Given the description of an element on the screen output the (x, y) to click on. 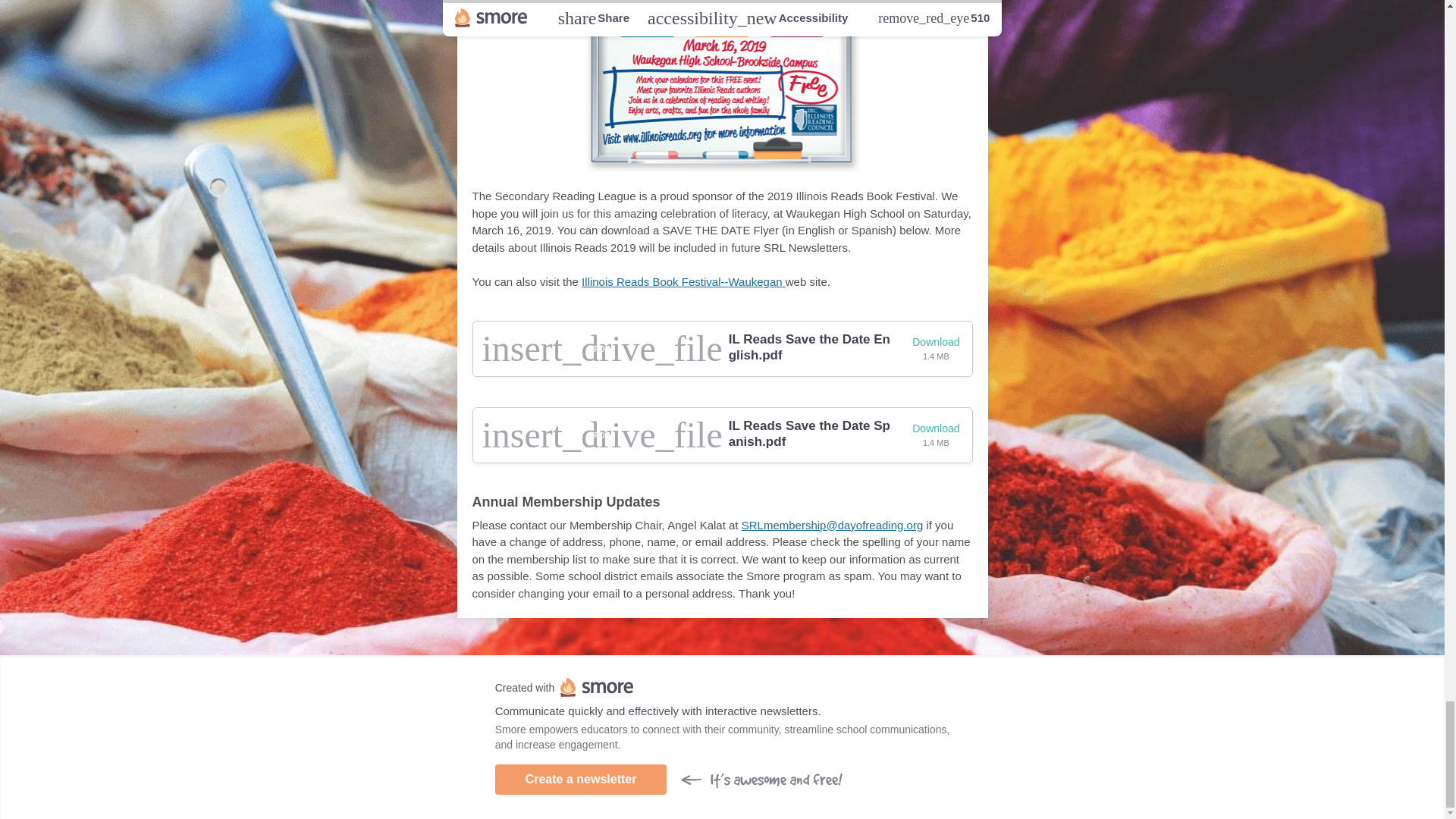
IL Reads Save the Date English.pdf (812, 347)
Illinois Reads Book Festival--Waukegan (683, 281)
Create a newsletter (580, 779)
IL Reads Save the Date Spanish.pdf (812, 433)
